Given the description of an element on the screen output the (x, y) to click on. 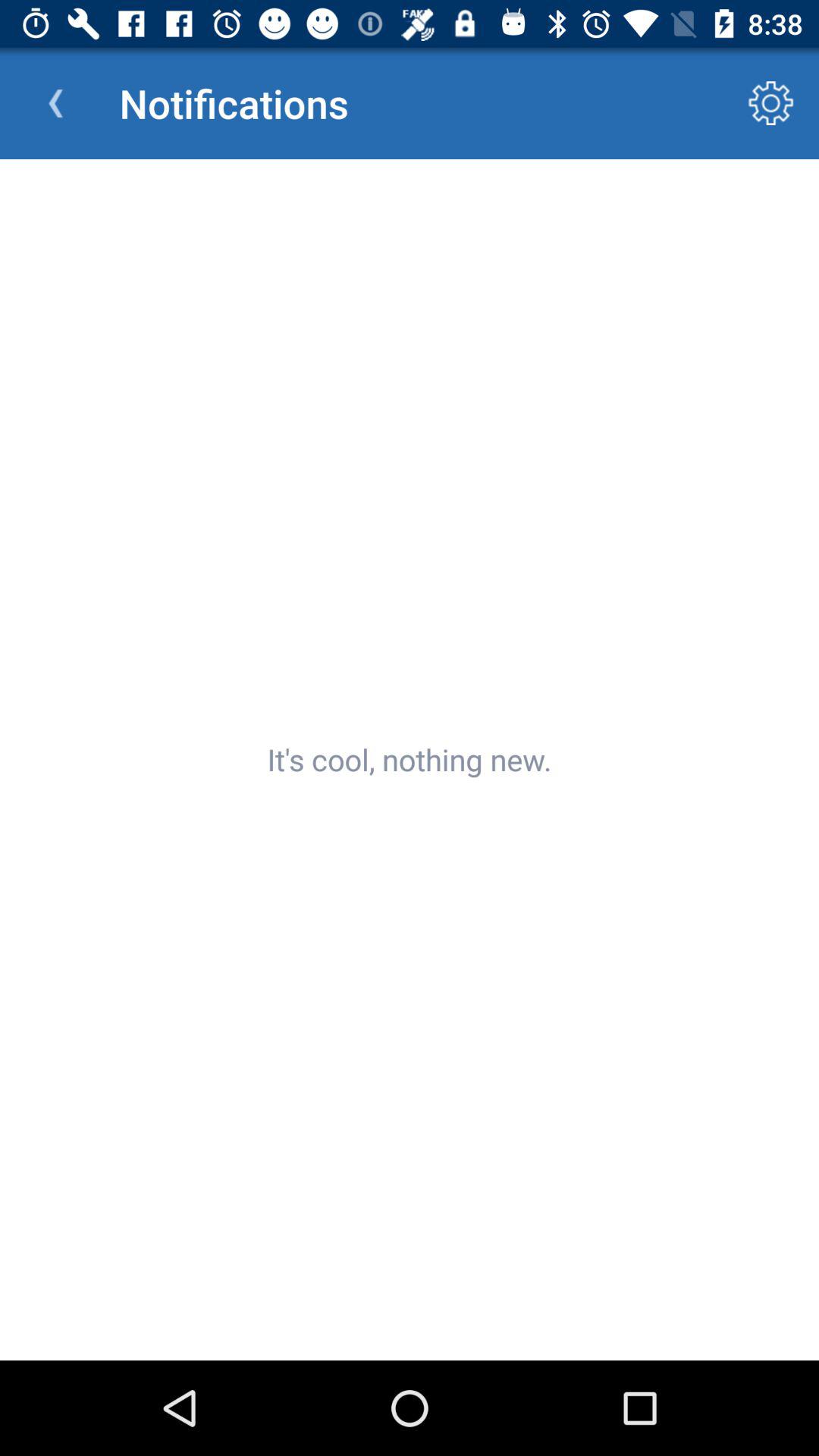
select the item next to notifications item (55, 103)
